Given the description of an element on the screen output the (x, y) to click on. 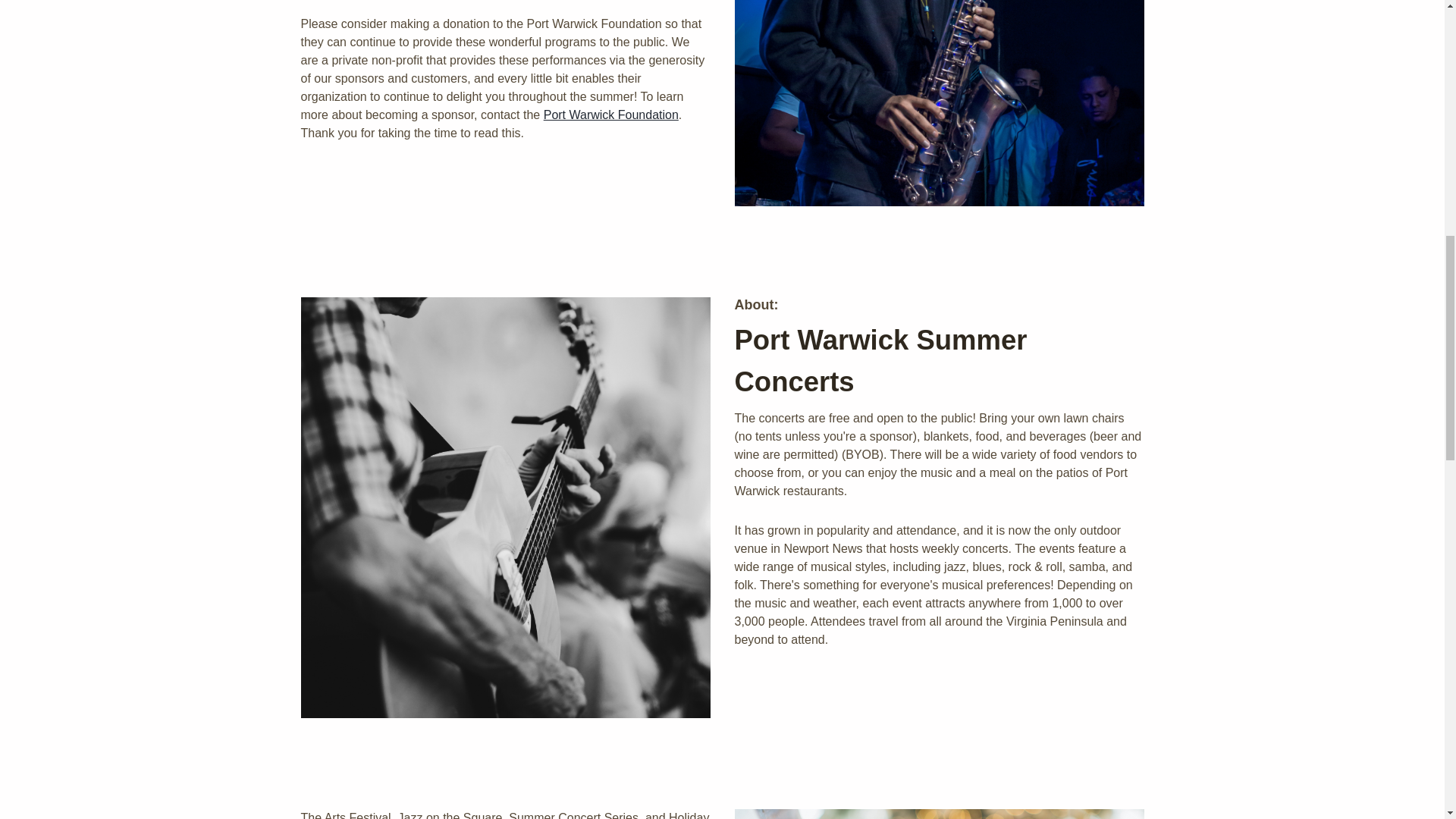
Port Warwick Foundation (610, 114)
